Given the description of an element on the screen output the (x, y) to click on. 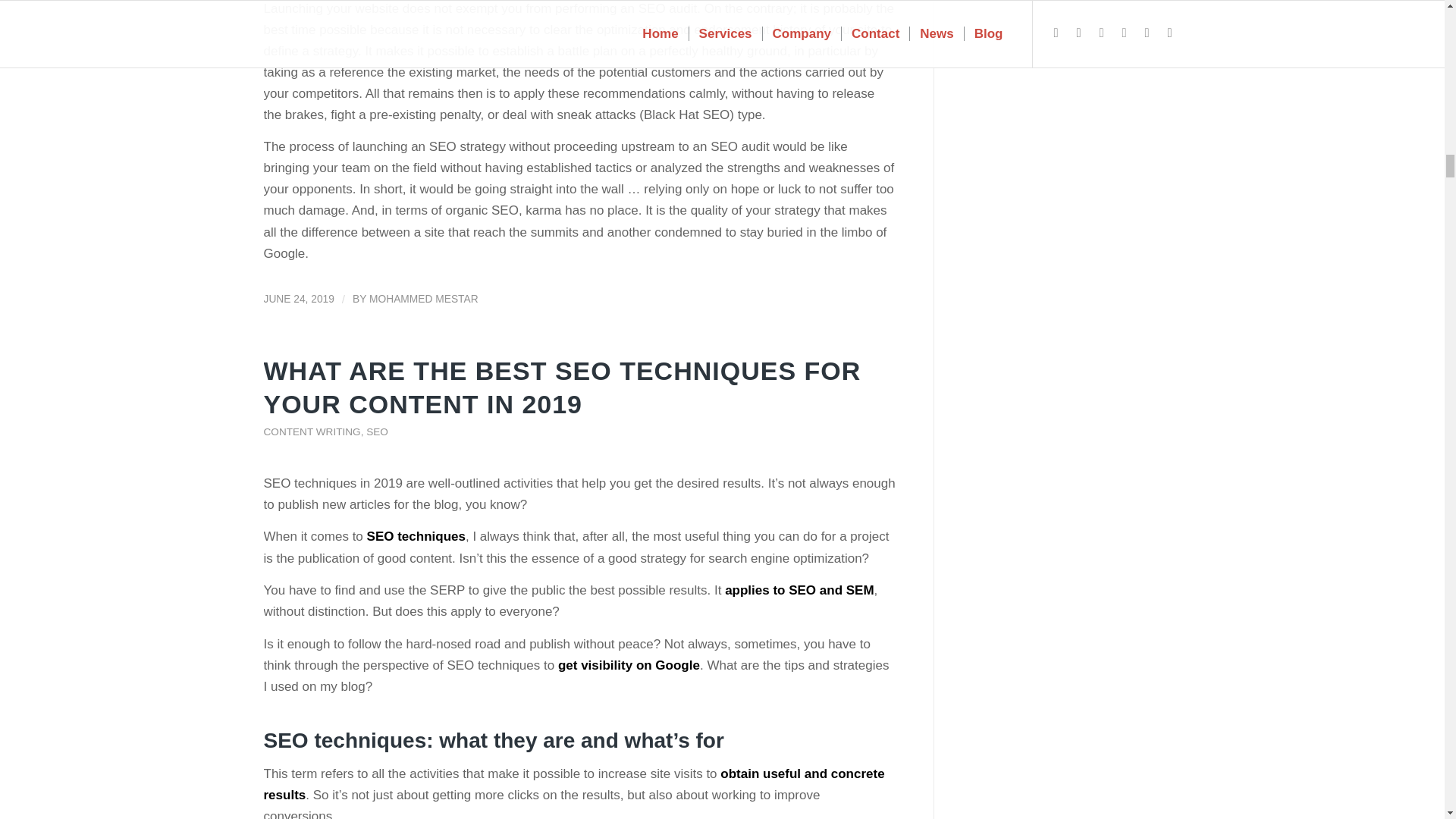
CONTENT WRITING (312, 431)
WHAT ARE THE BEST SEO TECHNIQUES FOR YOUR CONTENT IN 2019 (562, 387)
Posts by Mohammed Mestar (424, 298)
MOHAMMED MESTAR (424, 298)
SEO (377, 431)
